Given the description of an element on the screen output the (x, y) to click on. 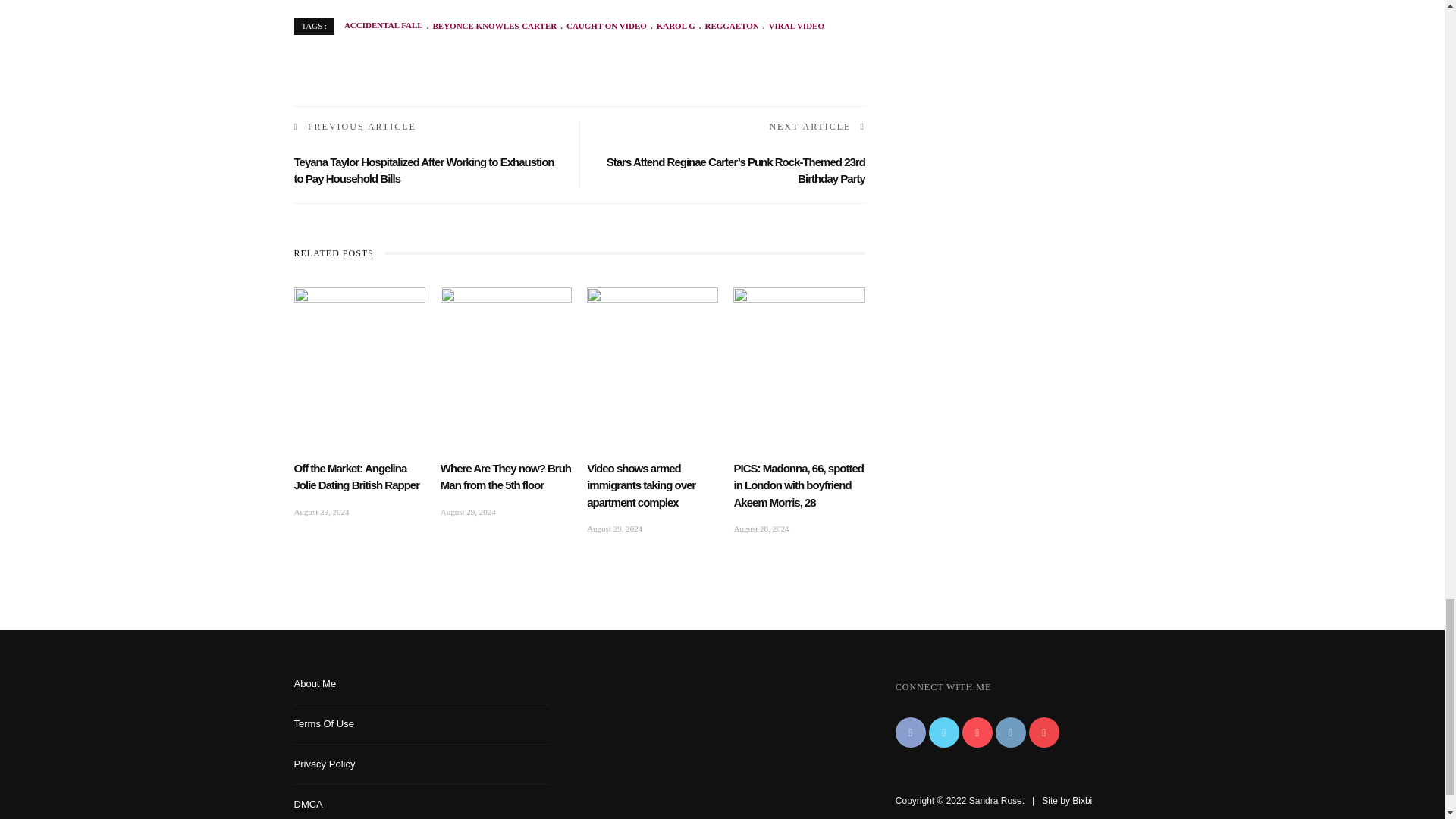
Where Are They now? Bruh Man from the 5th floor (506, 325)
ACCIDENTAL FALL (383, 25)
Where Are They now? Bruh Man from the 5th floor (505, 476)
REGGAETON (726, 25)
Off the Market: Angelina Jolie Dating British Rapper (359, 325)
VIRAL VIDEO (791, 25)
Video shows armed immigrants taking over apartment complex (640, 484)
Off the Market: Angelina Jolie Dating British Rapper (357, 476)
